Given the description of an element on the screen output the (x, y) to click on. 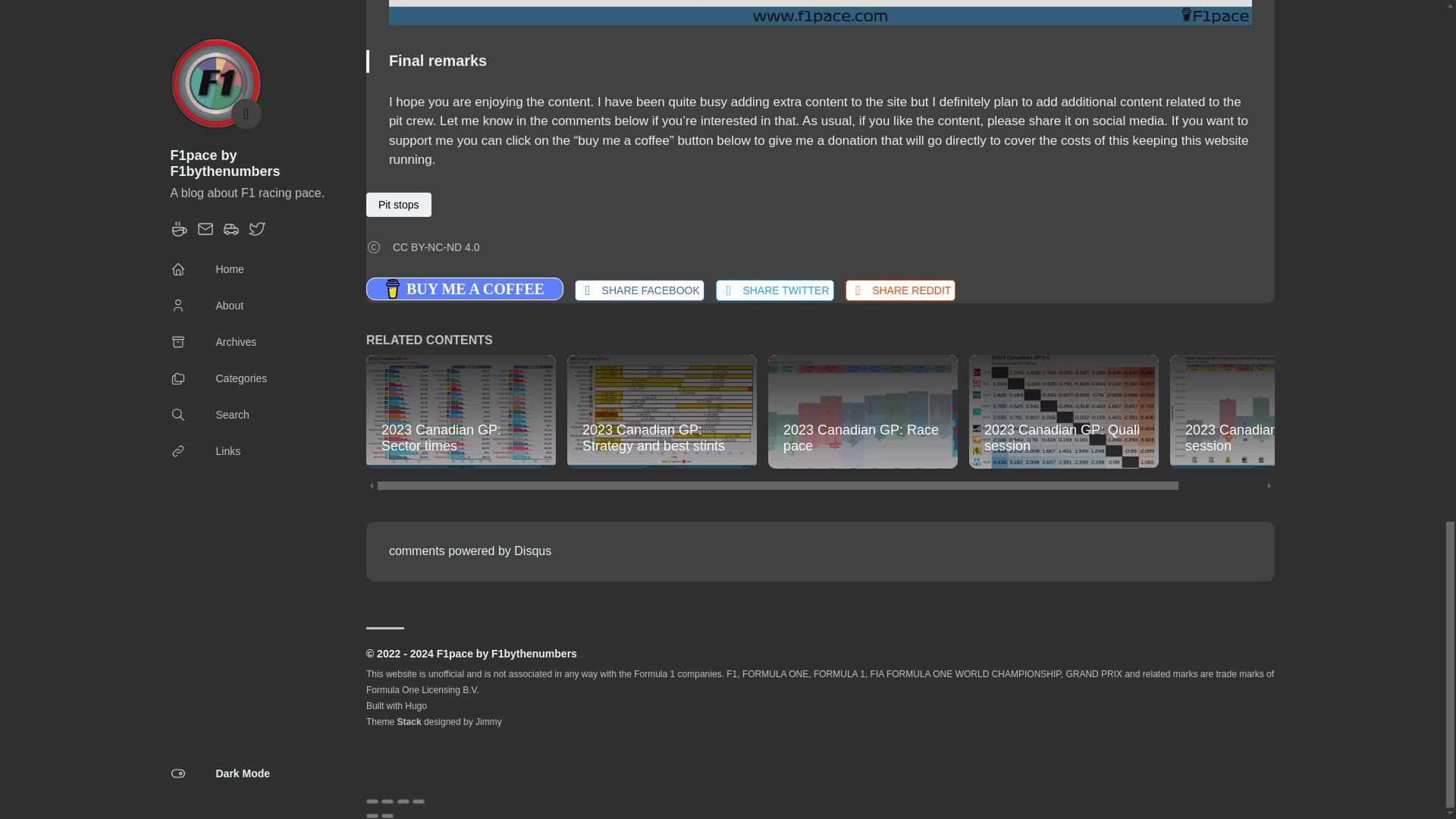
Hugo (415, 706)
BUY ME A COFFEE (464, 288)
Share (387, 801)
2023 Canadian GP: Quali session (1063, 411)
2023 Canadian GP: Race pace (863, 411)
comments powered by Disqus (469, 550)
 SHARE REDDIT (899, 290)
2023 Canadian GP: Strategy and best stints (662, 411)
 SHARE FACEBOOK (639, 290)
Jimmy (489, 721)
